Given the description of an element on the screen output the (x, y) to click on. 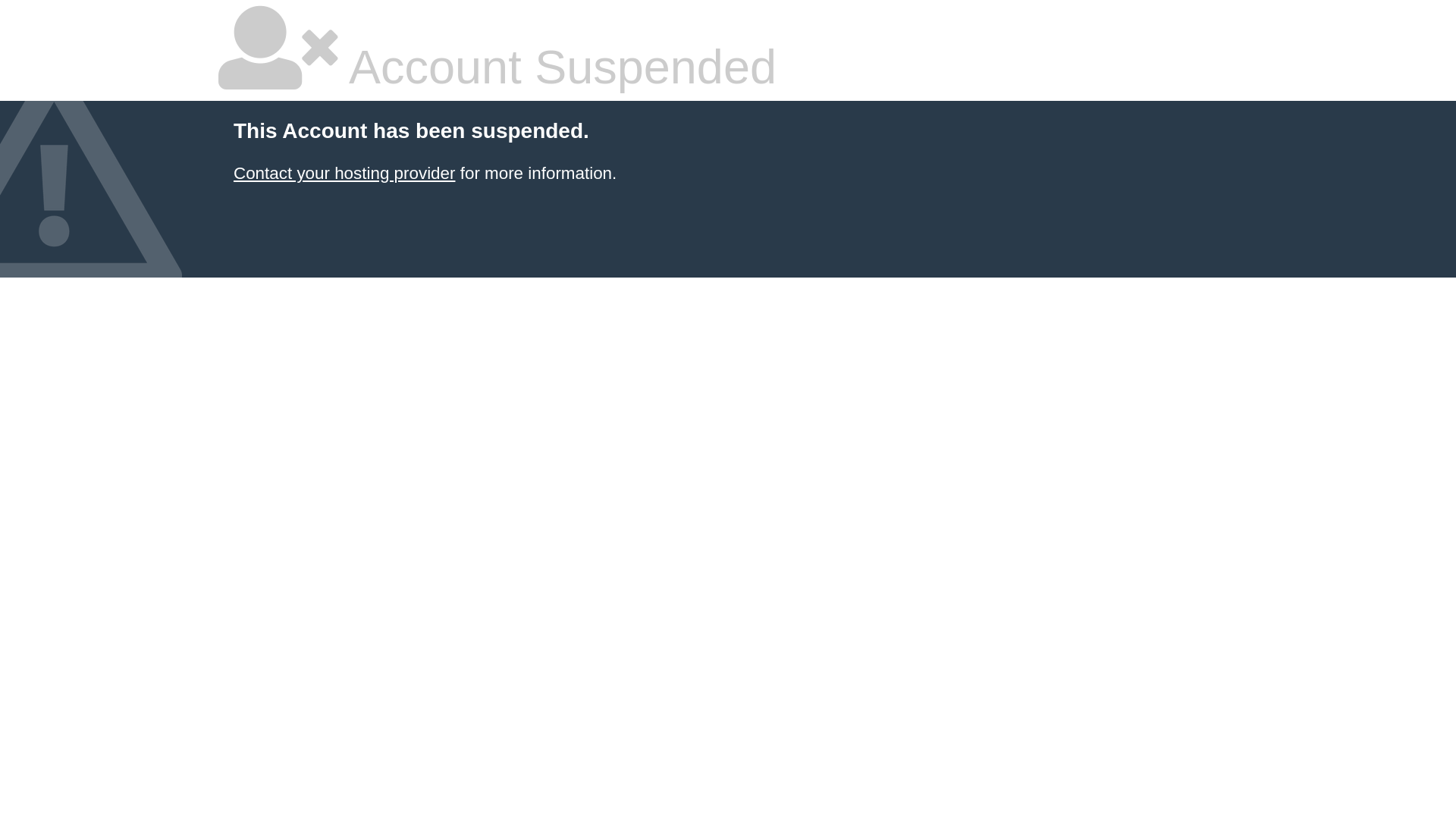
Contact your hosting provider Element type: text (344, 172)
